Given the description of an element on the screen output the (x, y) to click on. 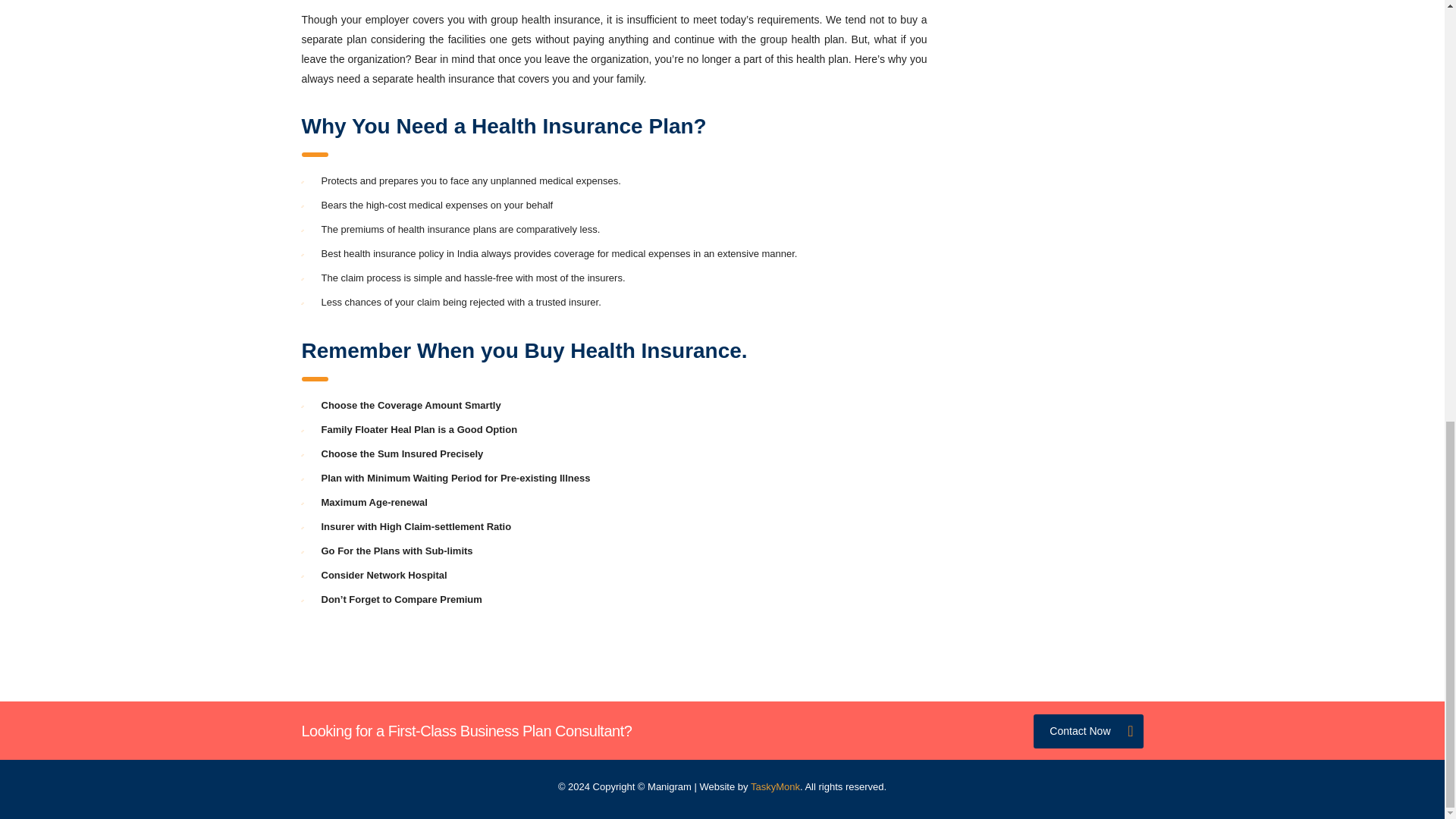
Contact Now (1087, 731)
Looking for a First-Class Business Plan Consultant? (466, 730)
TaskyMonk (775, 786)
